Given the description of an element on the screen output the (x, y) to click on. 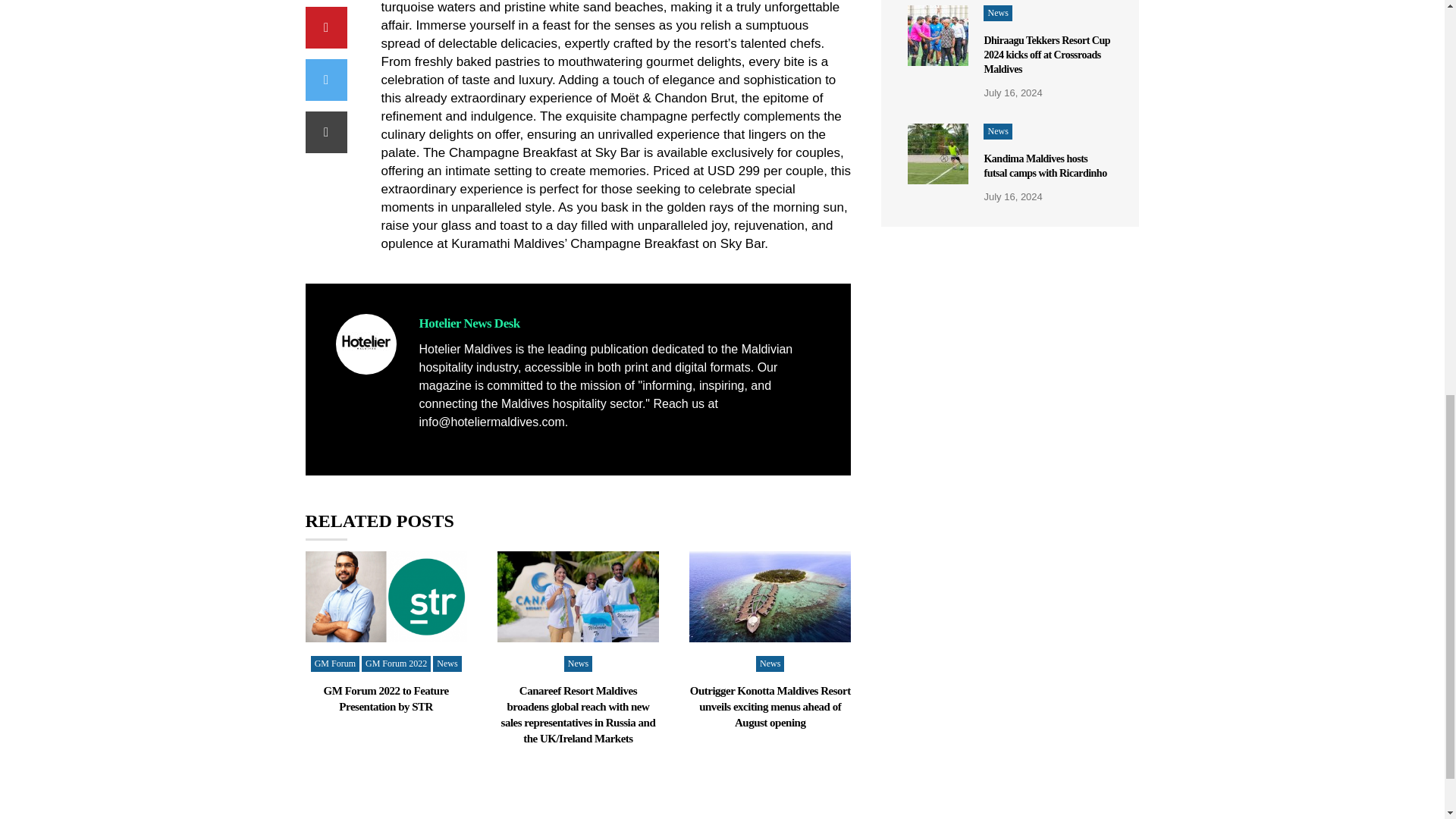
Hotelier News Desk (469, 323)
Posts by Hotelier News Desk (469, 323)
GM Forum 2022 (395, 663)
News (578, 663)
News (446, 663)
GM Forum (335, 663)
GM Forum 2022 to Feature Presentation by STR (385, 698)
